Given the description of an element on the screen output the (x, y) to click on. 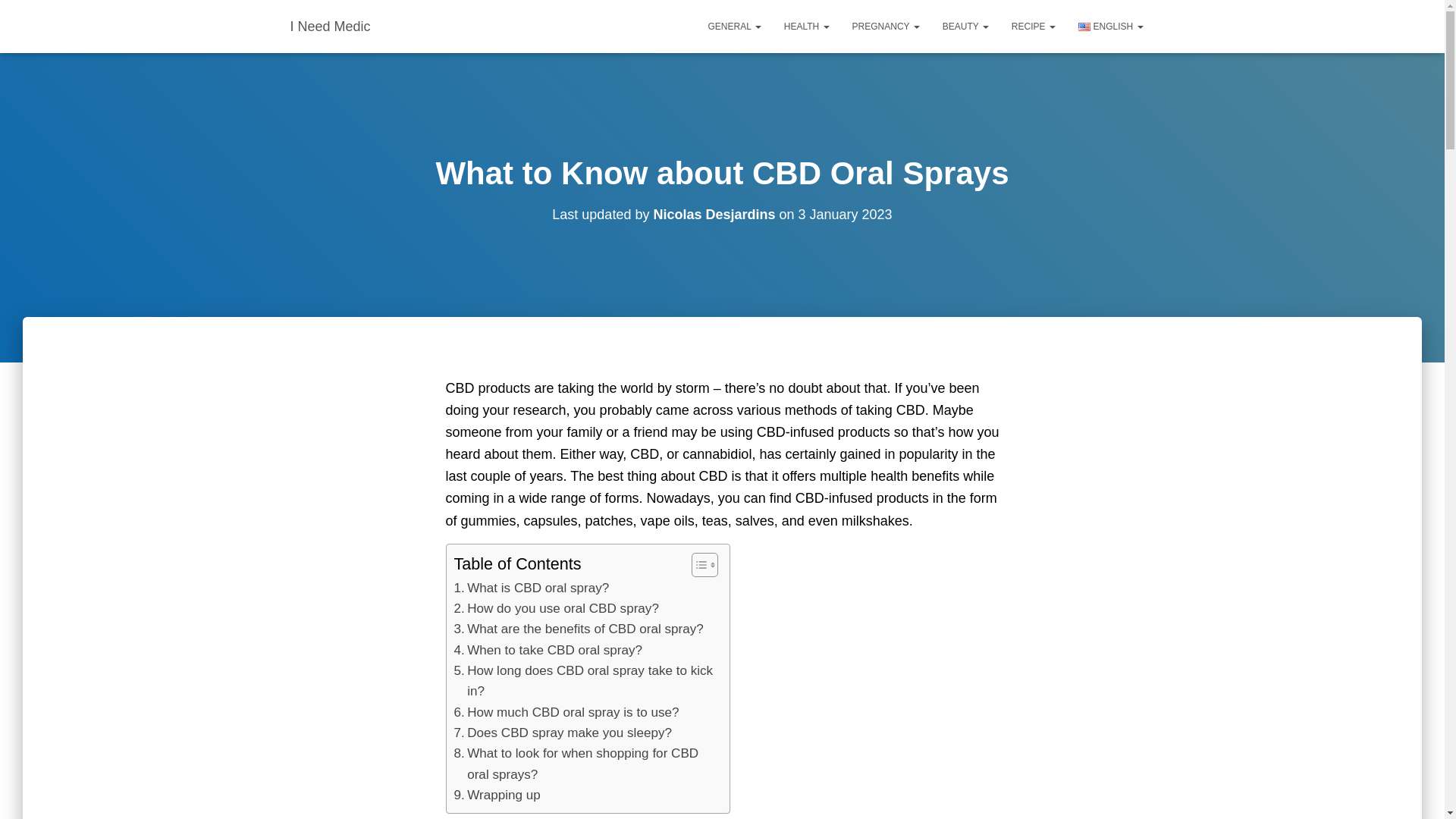
Does CBD spray make you sleepy? (561, 732)
How long does CBD oral spray take to kick in? (582, 680)
I Need Medic (330, 26)
What is CBD oral spray? (530, 588)
General (735, 26)
RECIPE (1033, 26)
Beauty (965, 26)
PREGNANCY (886, 26)
HEALTH (807, 26)
When to take CBD oral spray? (547, 649)
